Given the description of an element on the screen output the (x, y) to click on. 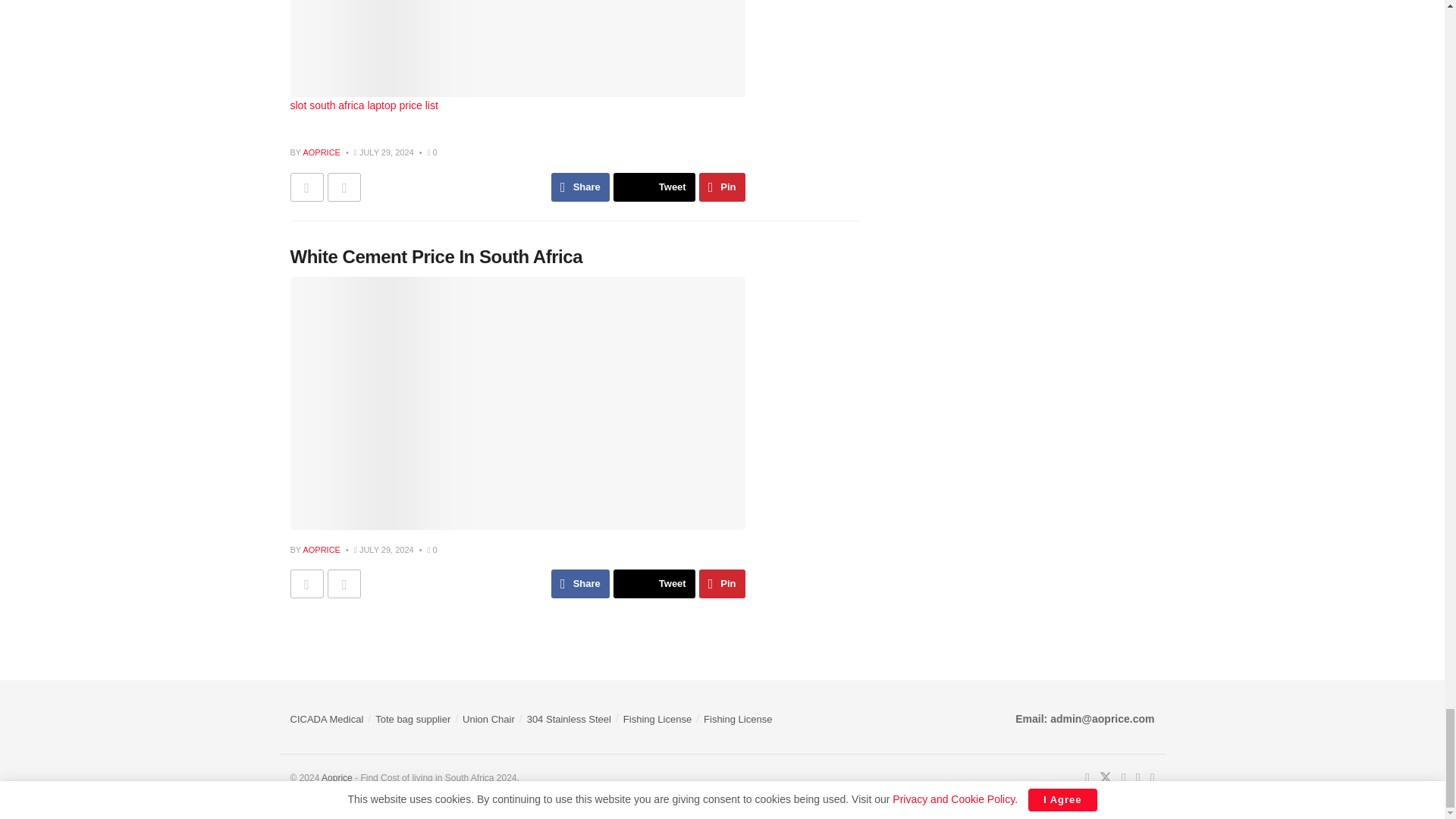
Find Cost of living in South Africa 2024 (336, 777)
